Given the description of an element on the screen output the (x, y) to click on. 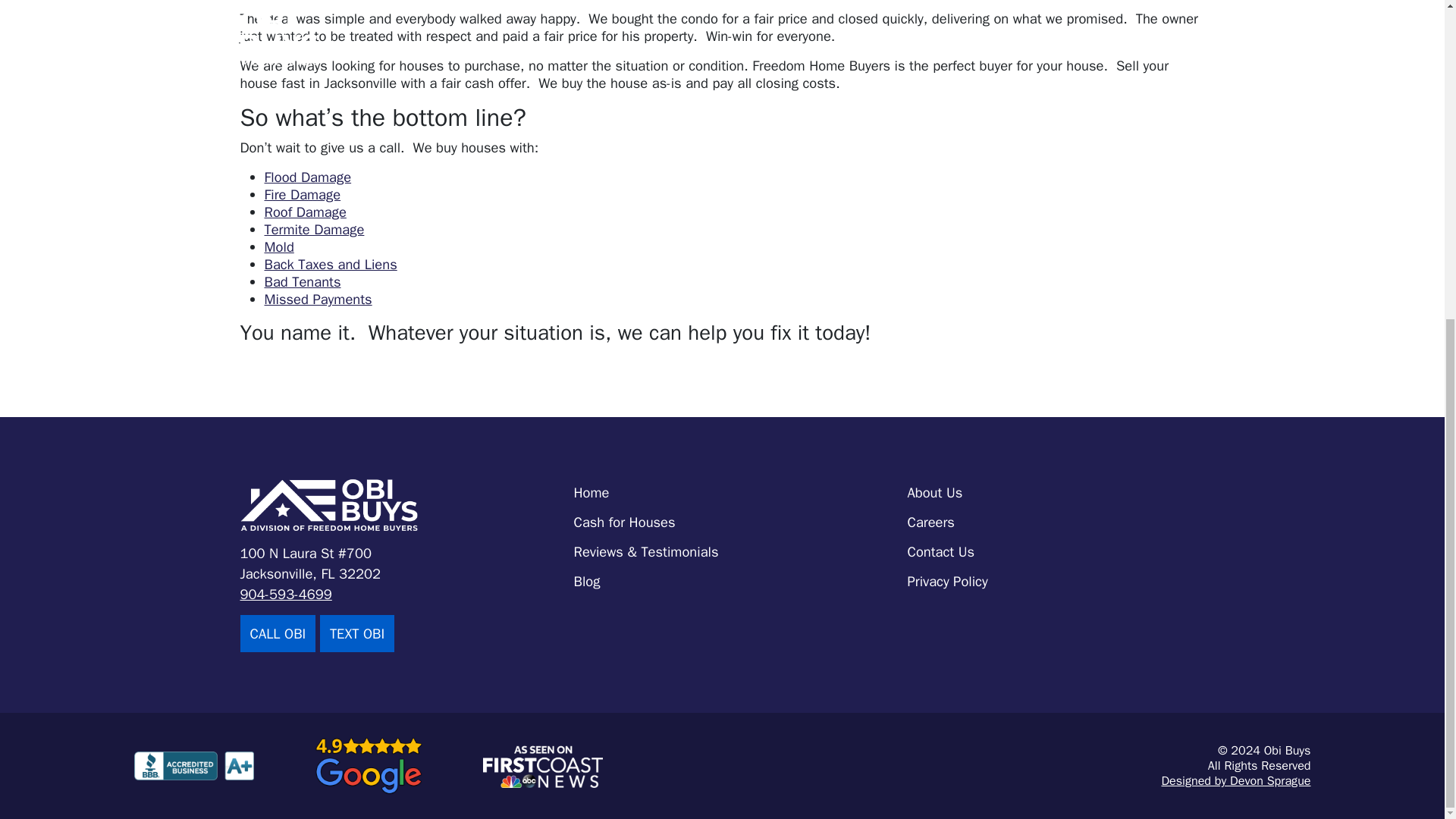
Fire Damage (301, 194)
Flood Damage (306, 176)
